Given the description of an element on the screen output the (x, y) to click on. 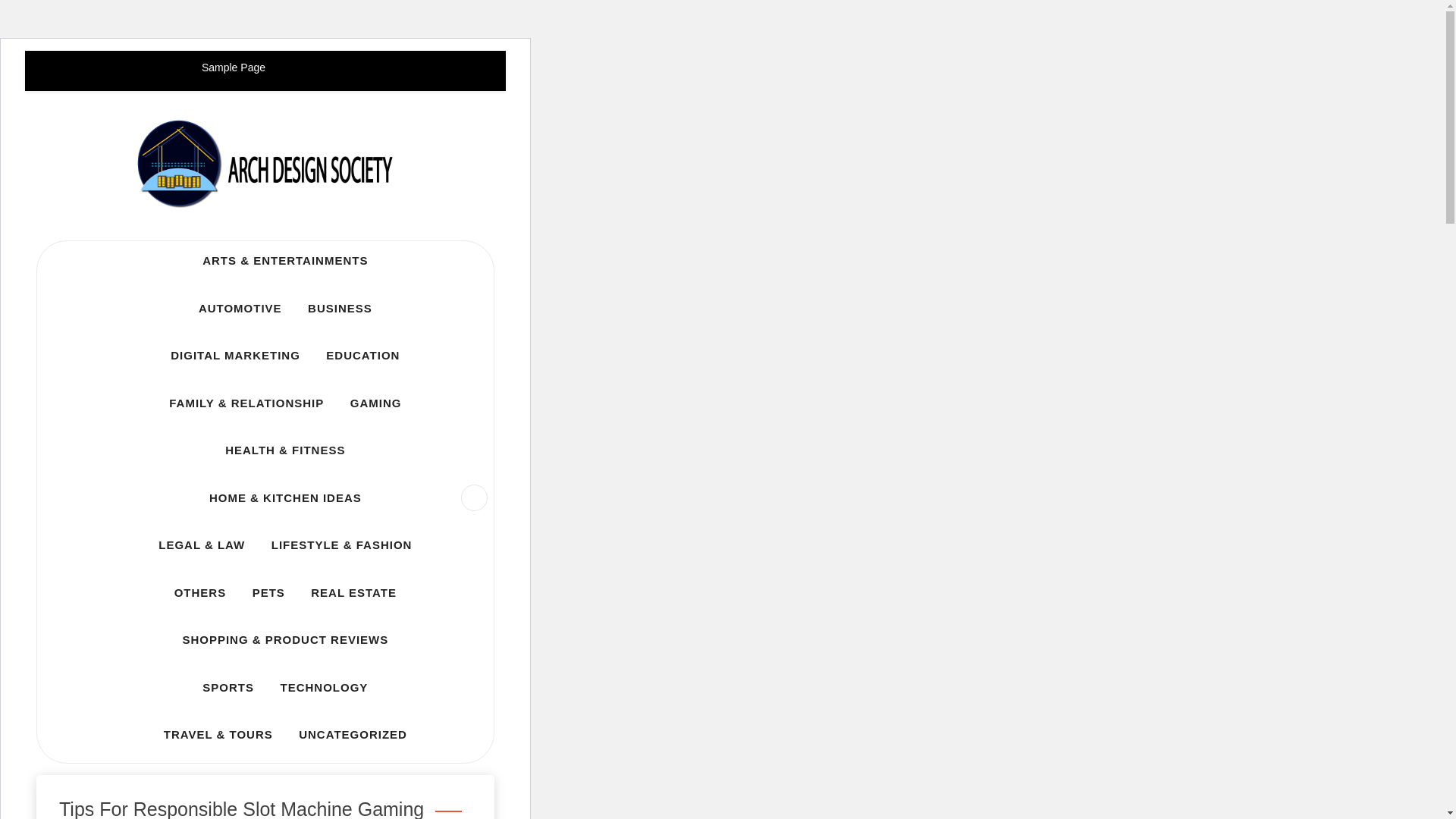
GAMING (376, 404)
DIGITAL MARKETING (234, 355)
Sample Page (233, 67)
OTHERS (200, 593)
UNCATEGORIZED (352, 734)
TECHNOLOGY (322, 687)
BUSINESS (340, 308)
SPORTS (227, 687)
PETS (269, 593)
EDUCATION (362, 355)
AUTOMOTIVE (240, 308)
REAL ESTATE (353, 593)
Search (40, 18)
